Given the description of an element on the screen output the (x, y) to click on. 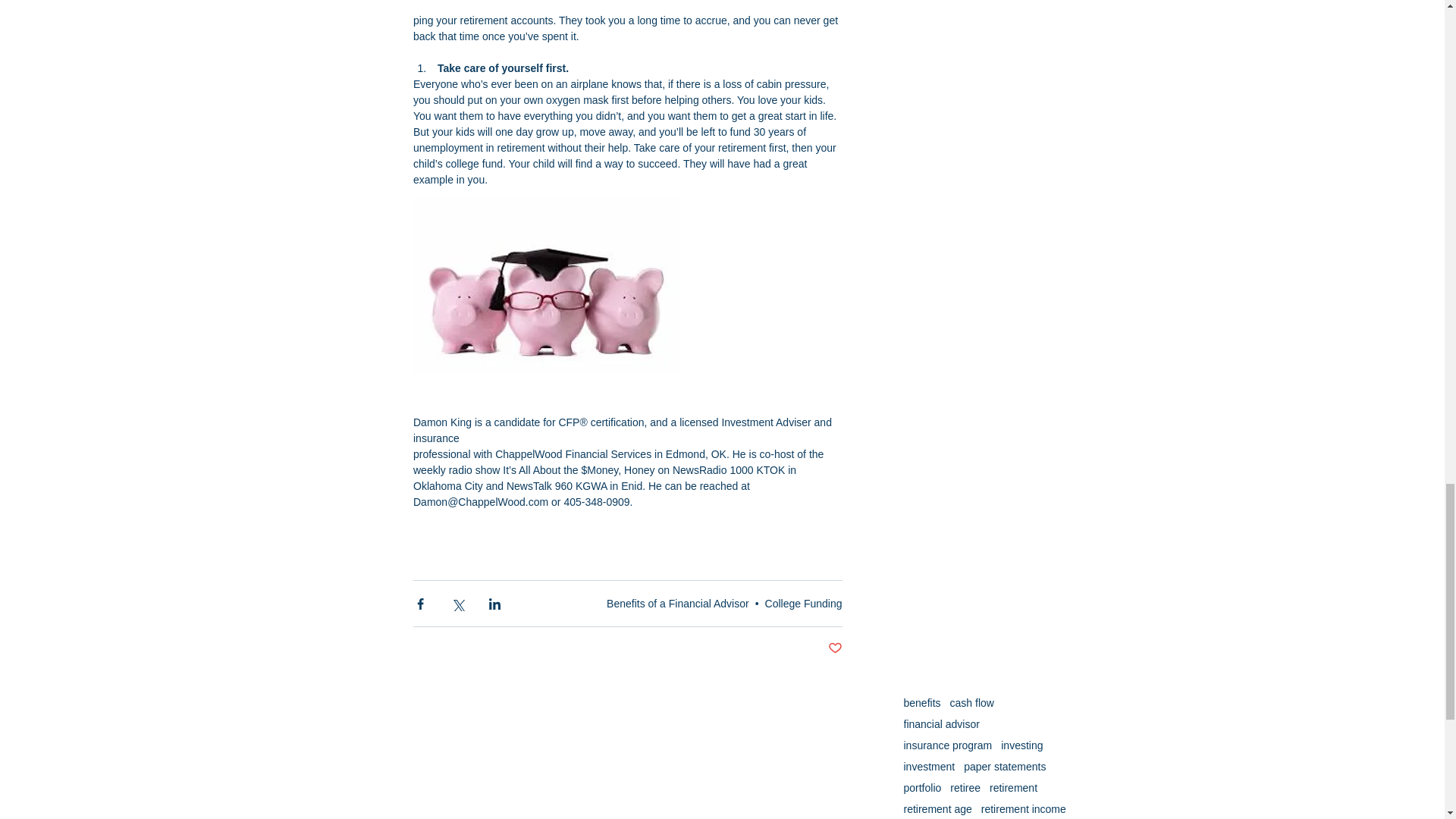
Post not marked as liked (835, 648)
Benefits of a Financial Advisor (678, 603)
College Funding (804, 603)
